Given the description of an element on the screen output the (x, y) to click on. 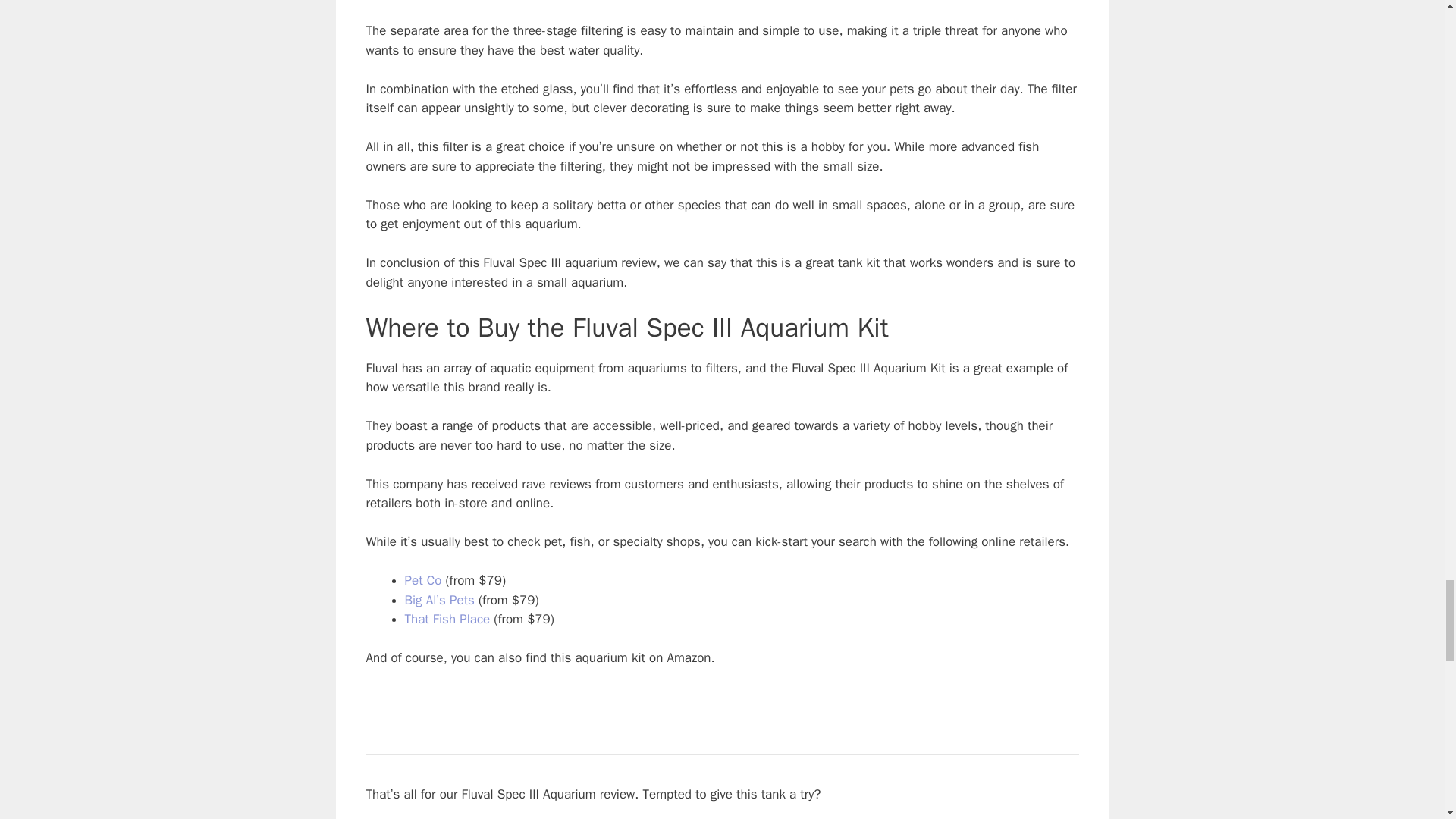
Pet Co (423, 580)
That Fish Place (447, 618)
